Given the description of an element on the screen output the (x, y) to click on. 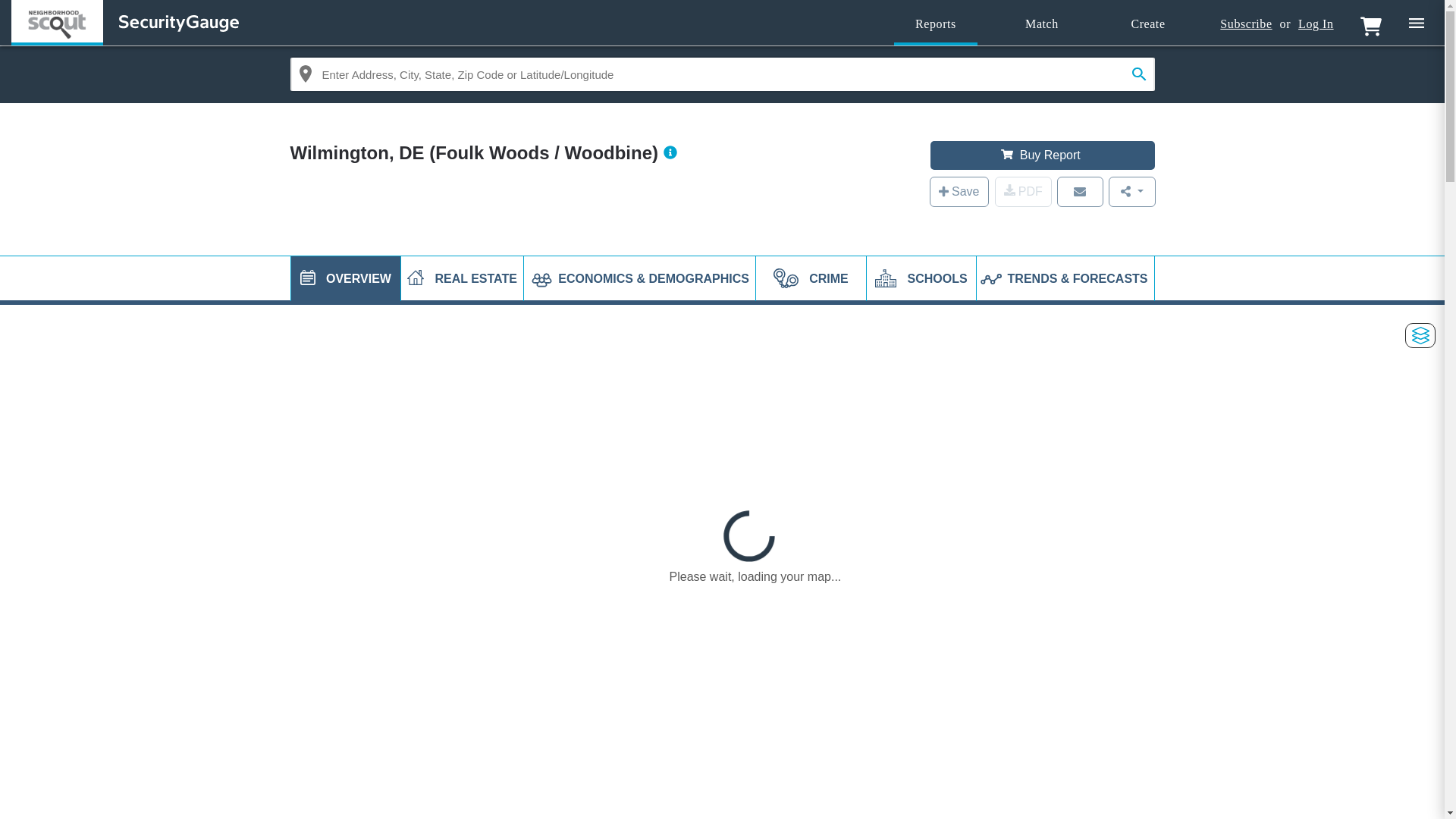
j (307, 277)
Match (1041, 24)
Reports (934, 24)
Subscribe (1245, 24)
Log In (1315, 24)
Create (1147, 24)
